Given the description of an element on the screen output the (x, y) to click on. 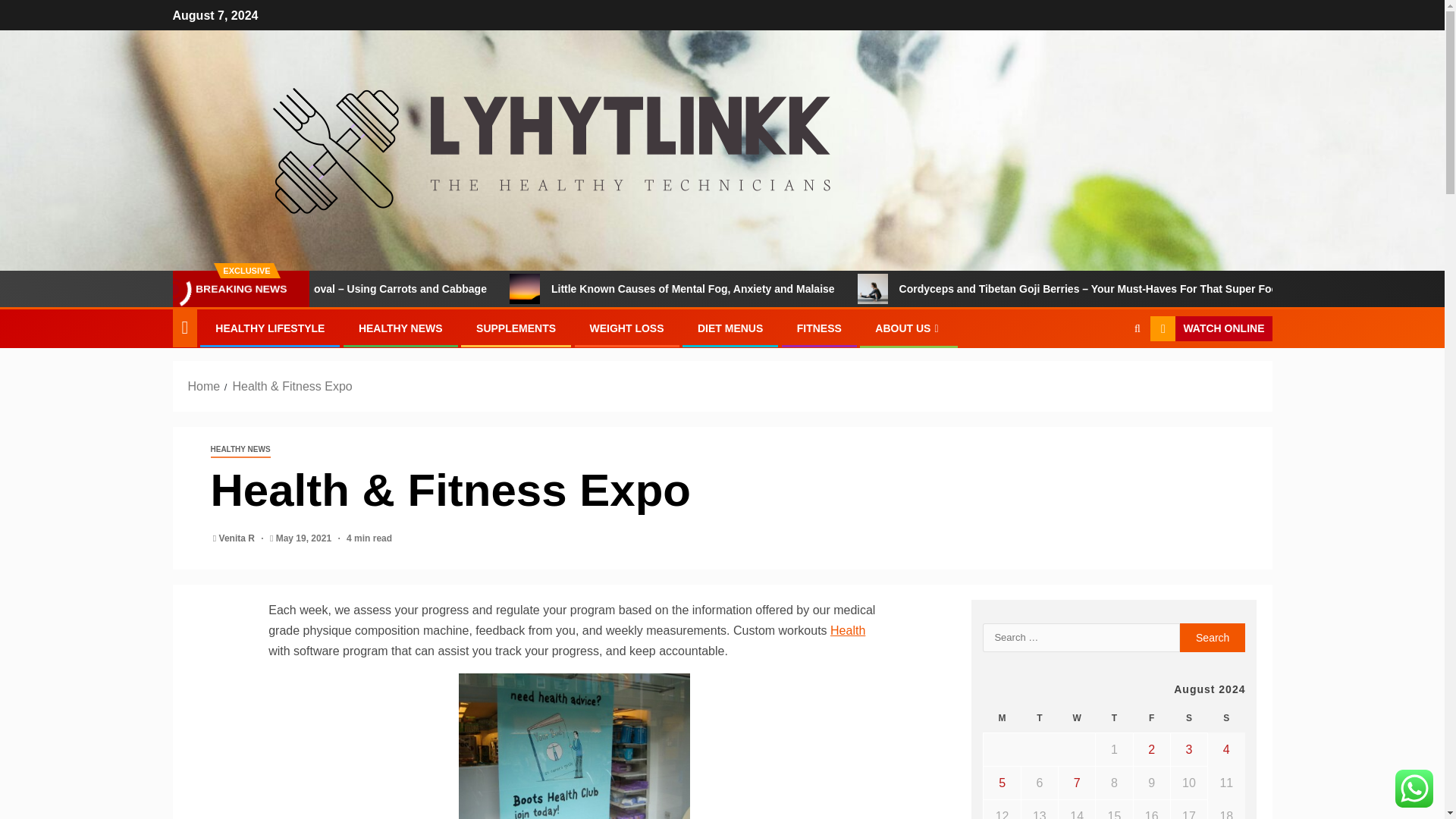
Home (204, 386)
DIET MENUS (729, 328)
Little Known Causes of Mental Fog, Anxiety and Malaise (800, 288)
Little Known Causes of Mental Fog, Anxiety and Malaise (604, 288)
Venita R (238, 538)
HEALTHY NEWS (240, 449)
Search (1212, 637)
FITNESS (818, 328)
HEALTHY LIFESTYLE (269, 328)
WATCH ONLINE (1210, 329)
Search (1107, 375)
HEALTHY NEWS (400, 328)
SUPPLEMENTS (516, 328)
ABOUT US (908, 328)
Health (846, 630)
